Given the description of an element on the screen output the (x, y) to click on. 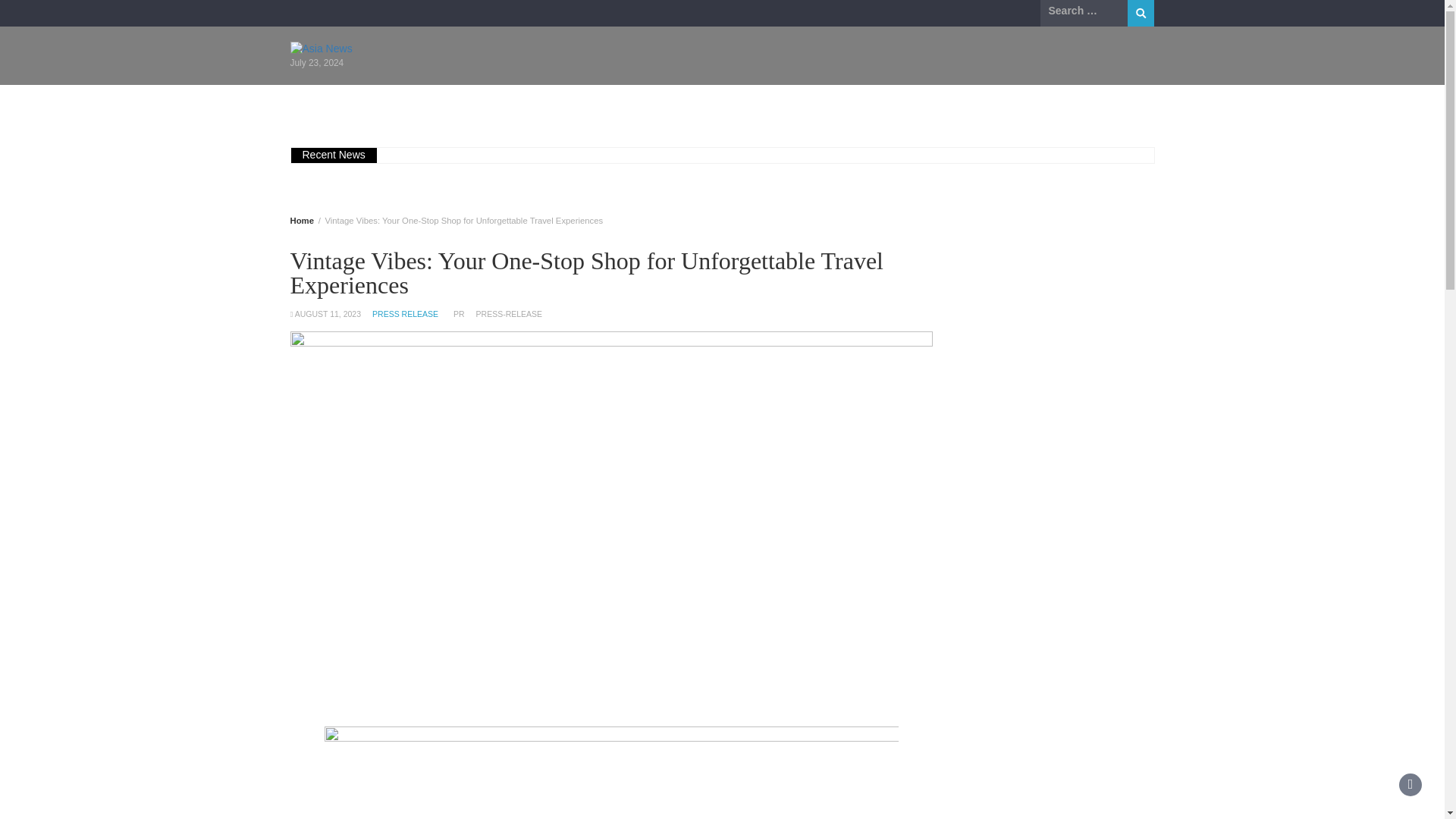
AUGUST 11, 2023 (328, 313)
Technology (740, 105)
Education (475, 105)
PRESS RELEASE (405, 313)
Search (1140, 13)
Business (394, 105)
Home (301, 220)
Home (323, 105)
Search for: (1083, 11)
PR (458, 313)
National (657, 105)
World (817, 105)
Search (1140, 13)
PRESS-RELEASE (509, 313)
Press Release (900, 105)
